Given the description of an element on the screen output the (x, y) to click on. 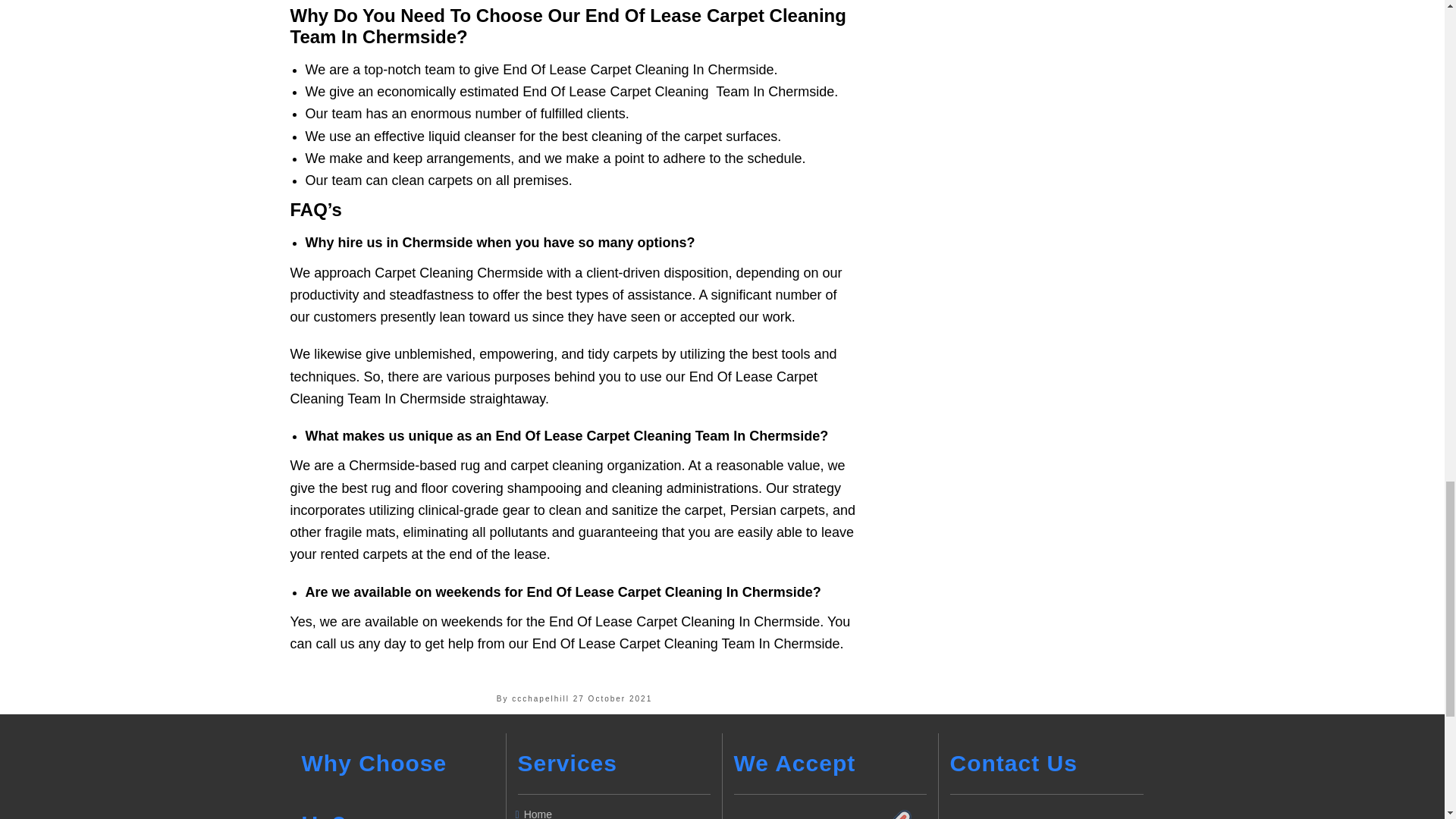
Home (617, 810)
